Given the description of an element on the screen output the (x, y) to click on. 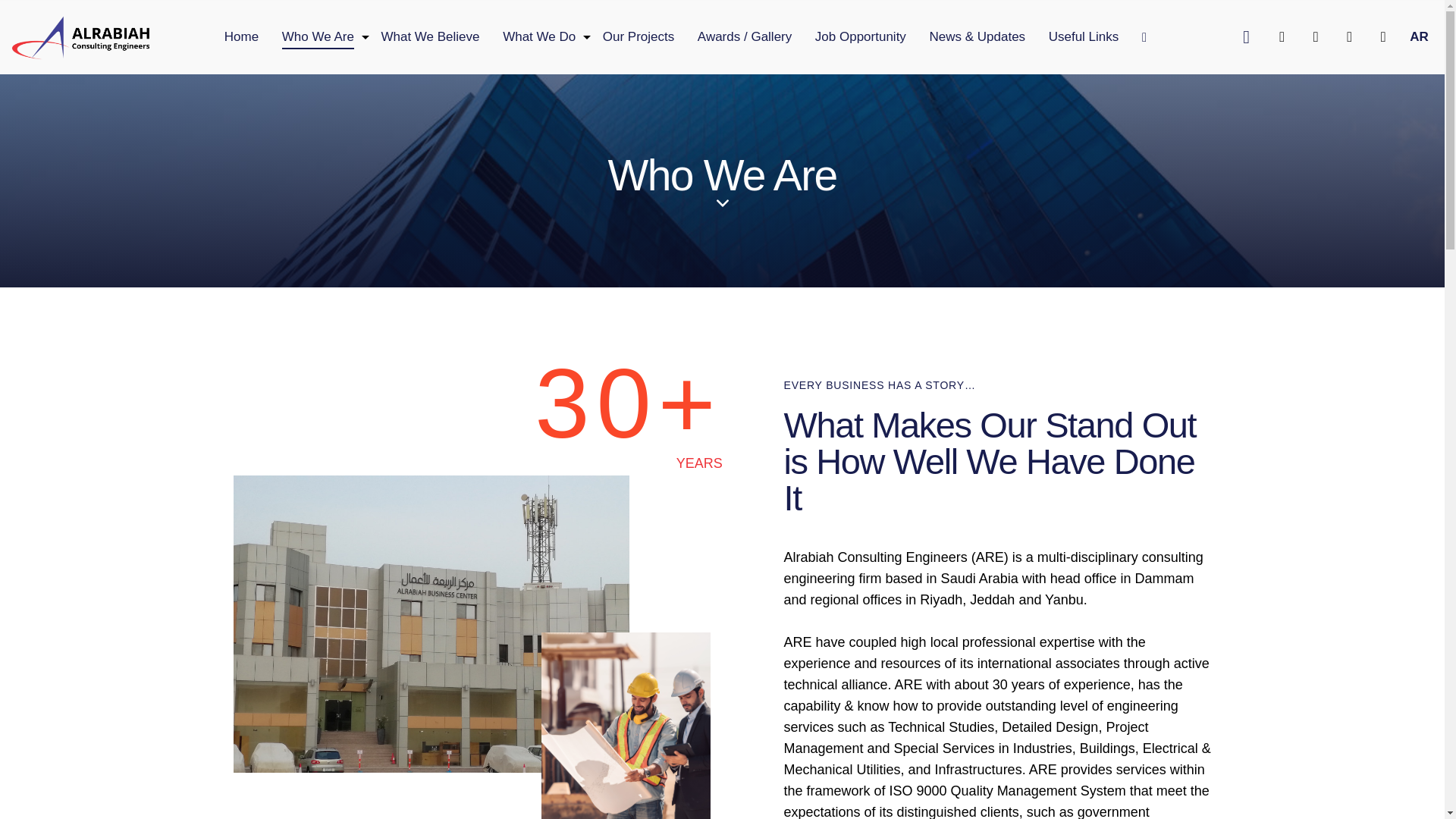
What We Believe (430, 36)
What We Do (540, 36)
Who We Are (317, 36)
Our Projects (638, 36)
Job Opportunity (860, 36)
AR (1418, 36)
Home (240, 36)
Useful Links (1082, 36)
